Given the description of an element on the screen output the (x, y) to click on. 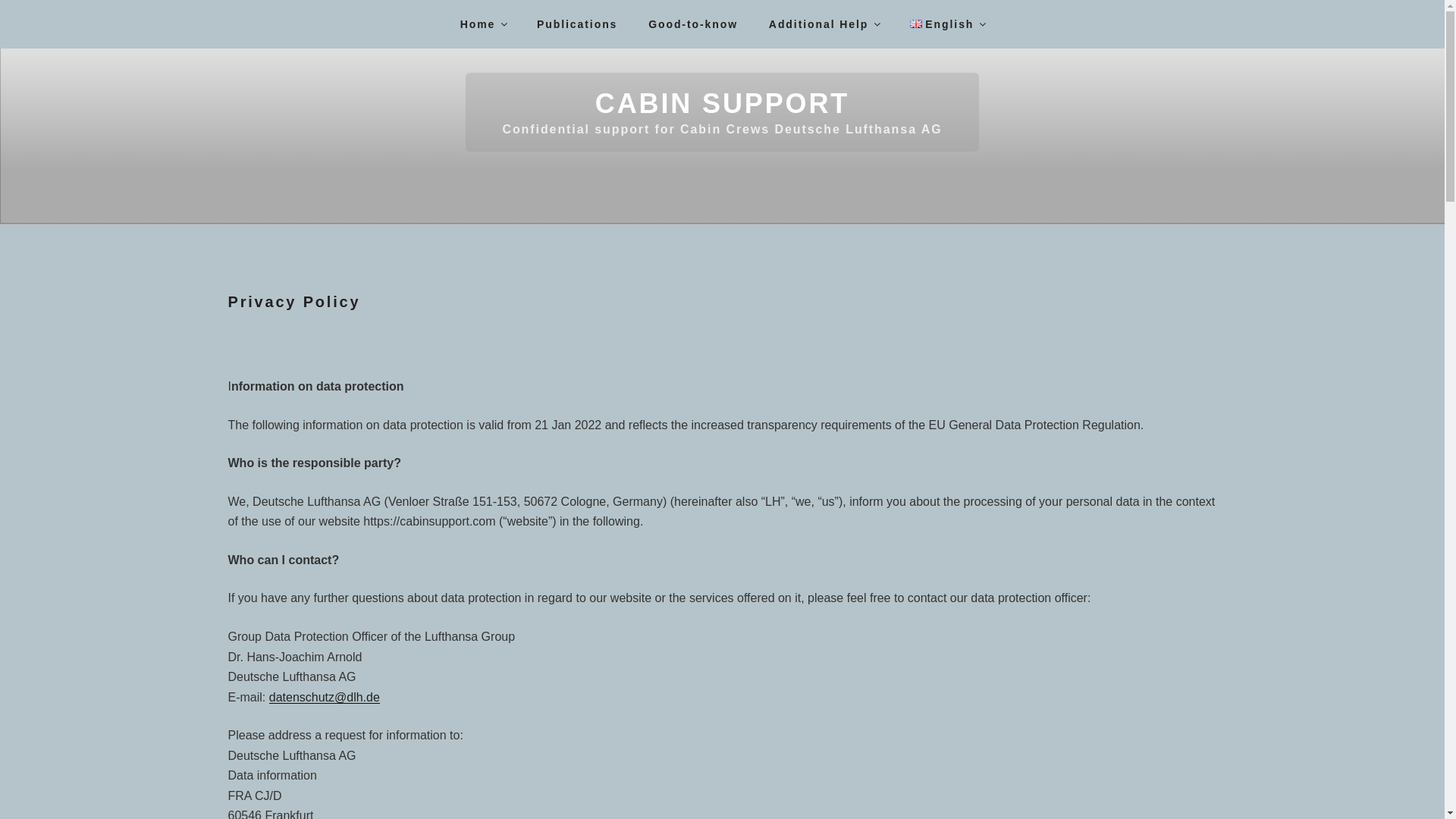
Good-to-know (692, 23)
Home (482, 23)
CABIN SUPPORT (721, 102)
English (946, 23)
Publications (577, 23)
Additional Help (823, 23)
